Given the description of an element on the screen output the (x, y) to click on. 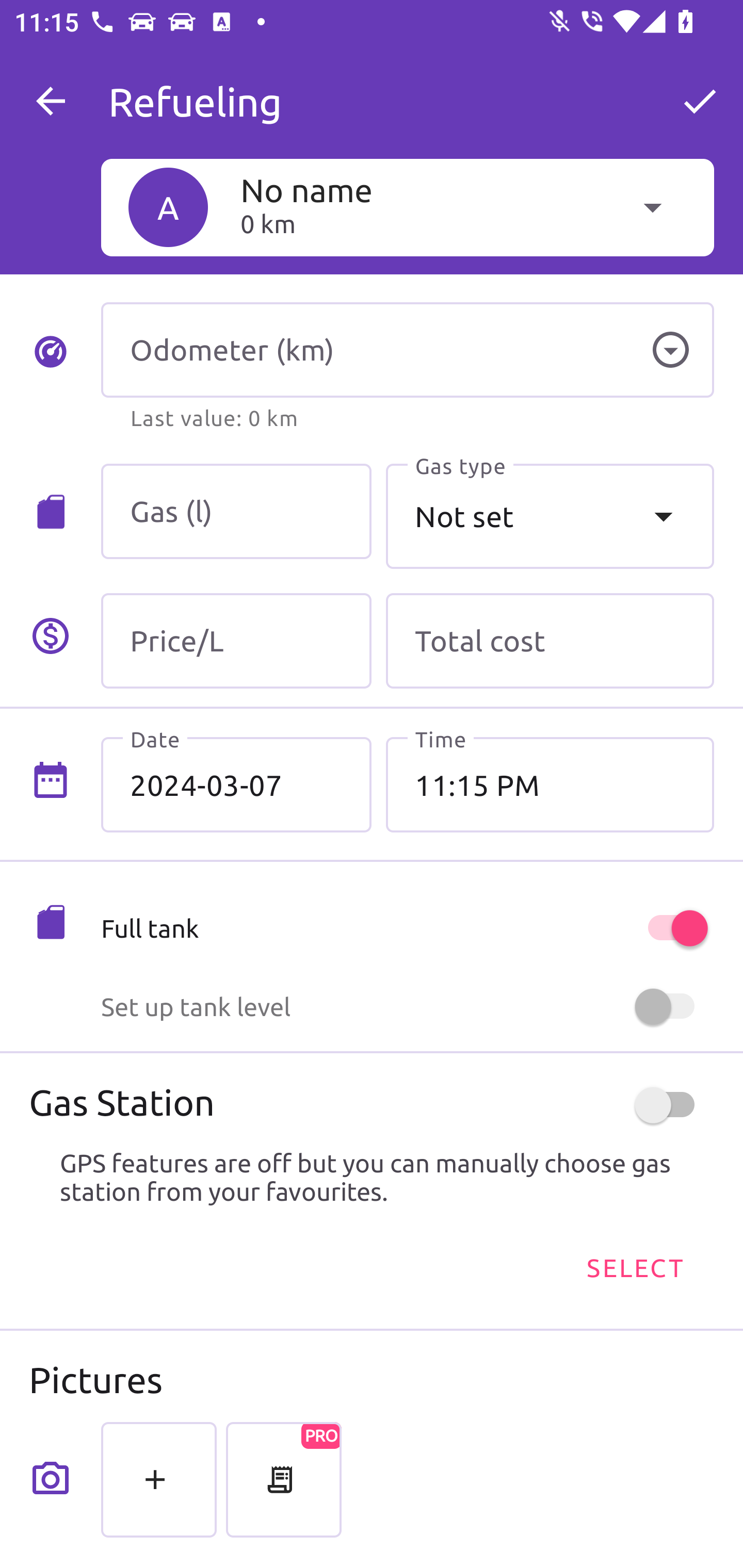
Navigate up (50, 101)
OK (699, 101)
A No name 0 km (407, 206)
Odometer (km) (407, 350)
Odometer (670, 349)
Gas (l) (236, 511)
Not set (549, 516)
Price/L (236, 640)
Total cost  (549, 640)
2024-03-07 (236, 784)
11:15 PM (549, 784)
Full tank (407, 928)
Set up tank level (407, 1006)
SELECT (634, 1267)
